Given the description of an element on the screen output the (x, y) to click on. 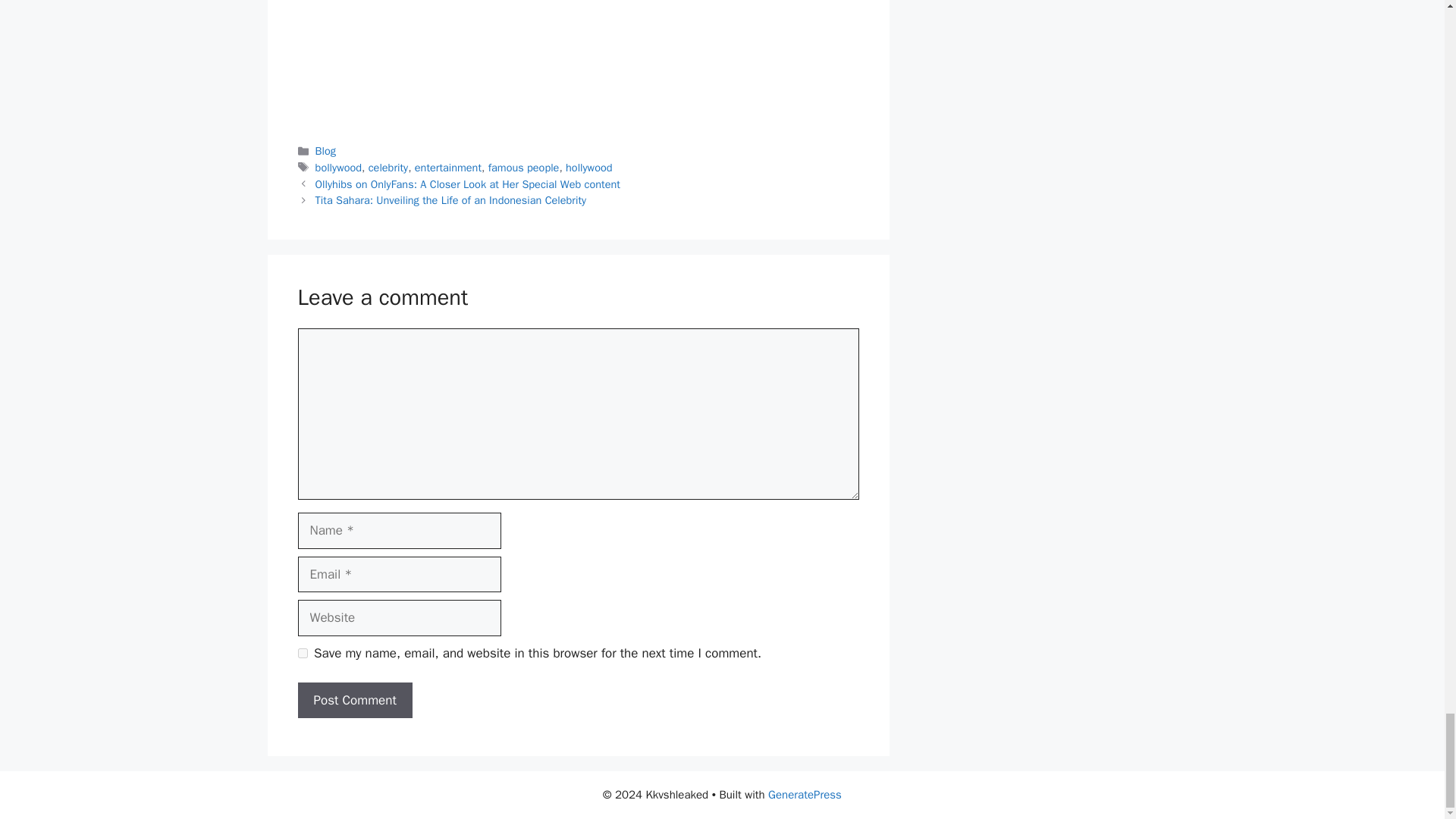
Post Comment (354, 700)
bollywood (338, 167)
Advertisement (576, 60)
Post Comment (354, 700)
GeneratePress (804, 794)
celebrity (387, 167)
Tita Sahara: Unveiling the Life of an Indonesian Celebrity (450, 200)
famous people (523, 167)
hollywood (588, 167)
entertainment (447, 167)
Blog (325, 151)
yes (302, 653)
